Given the description of an element on the screen output the (x, y) to click on. 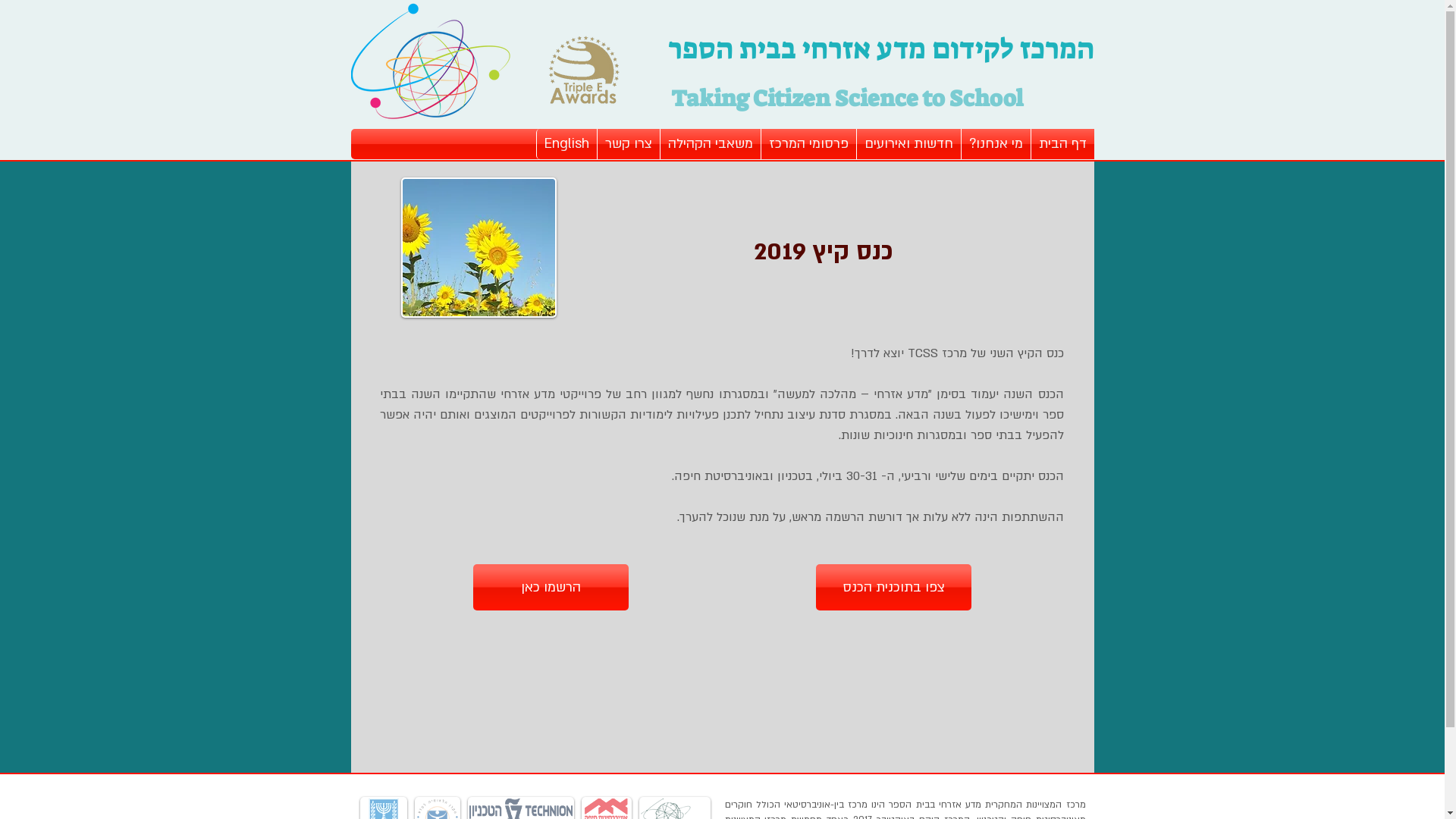
summer-1023065_960_720.jpg Element type: hover (477, 247)
